Given the description of an element on the screen output the (x, y) to click on. 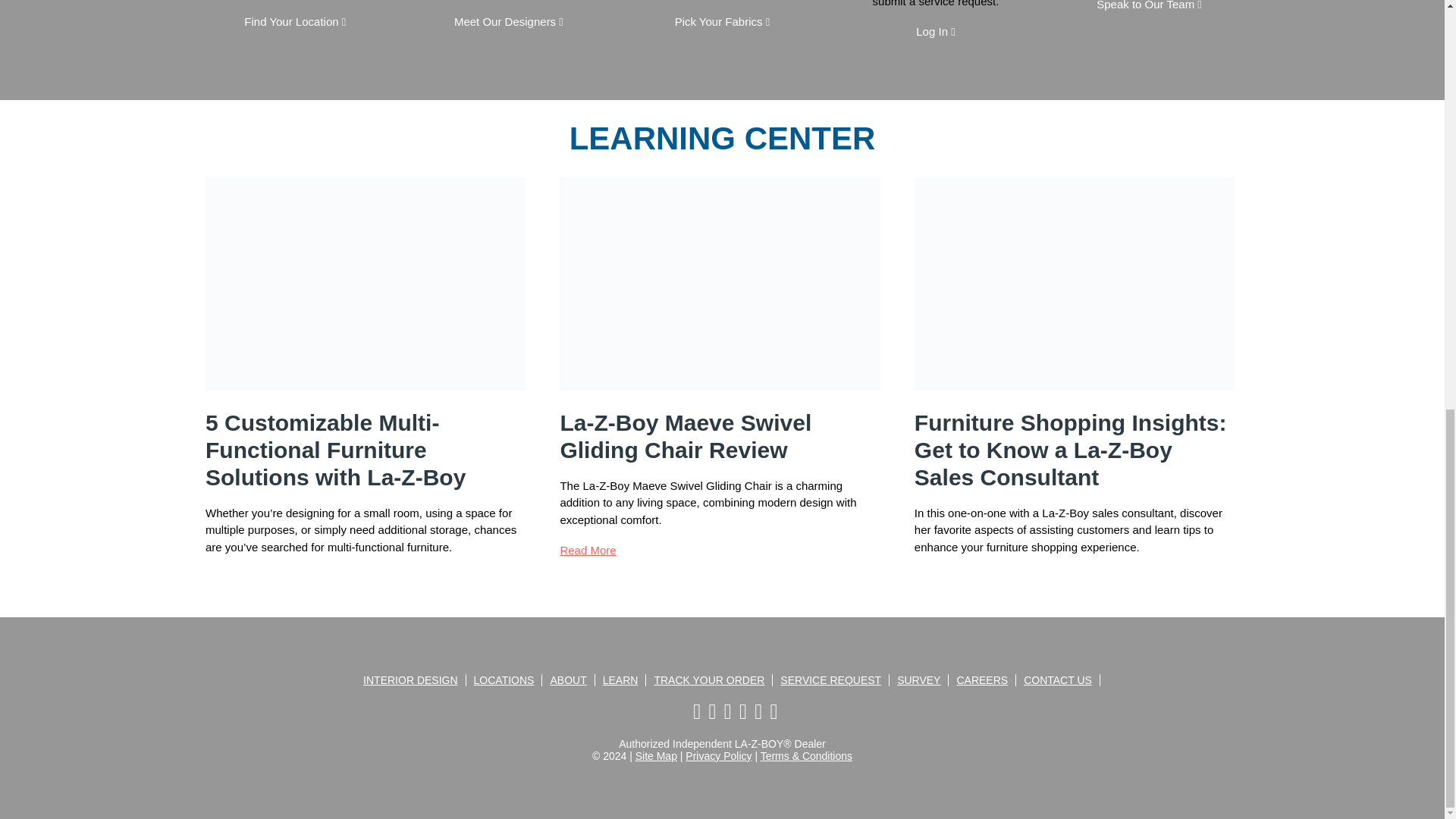
Find Your Location (295, 21)
Speak to Our Team (1149, 5)
Log In (935, 31)
La-Z-Boy Maeve Swivel Gliding Chair Review (684, 436)
La-Z-Boy Maeve Swivel Gliding Chair Review (719, 399)
Pick Your Fabrics (722, 21)
Read More (233, 576)
LEARNING CENTER (722, 137)
La-Z-Boy Maeve Swivel Gliding Chair Review (587, 549)
Meet Our Designers (508, 21)
